Given the description of an element on the screen output the (x, y) to click on. 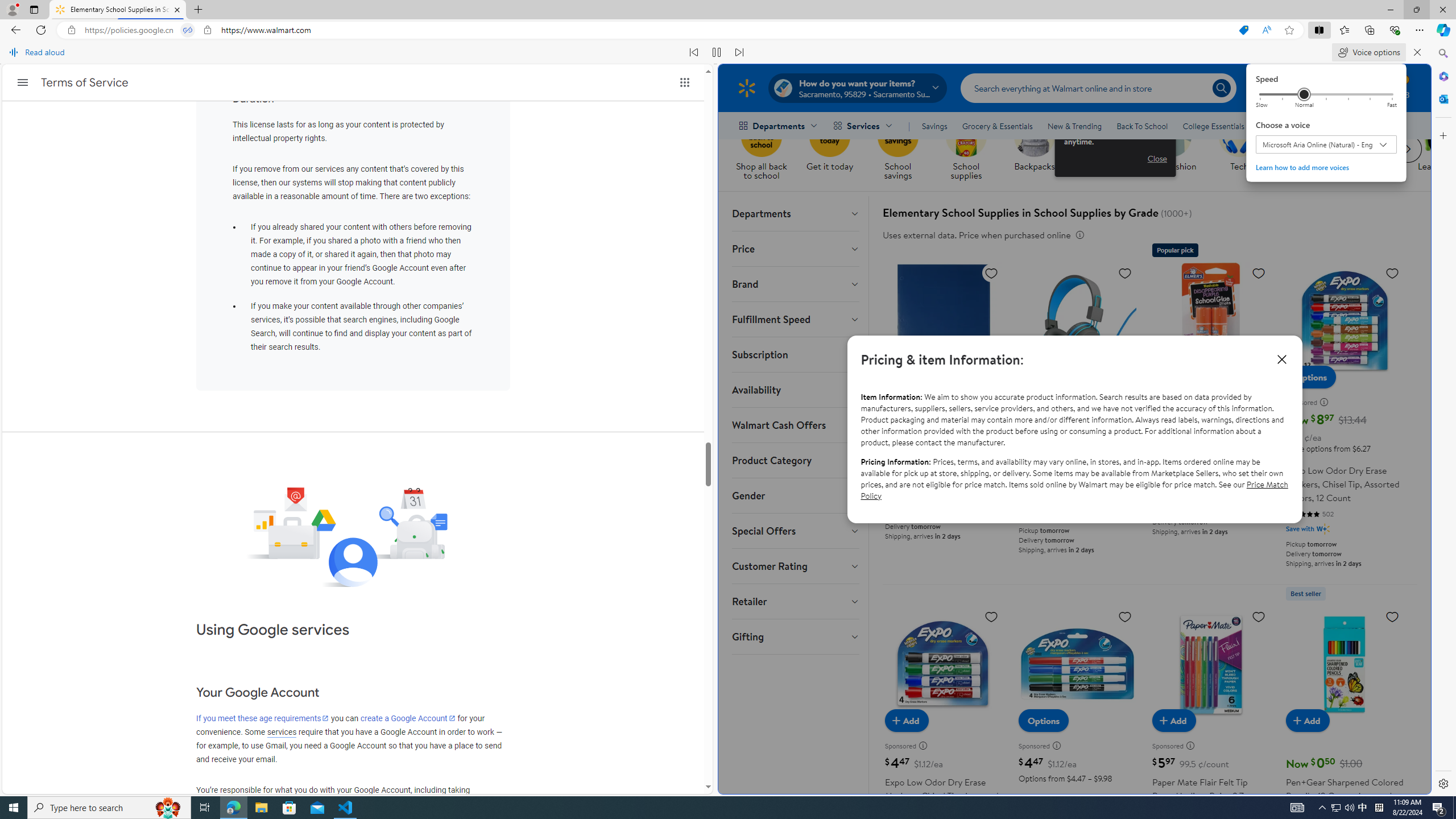
Action Center, 2 new notifications (1439, 807)
Read next paragraph (739, 52)
Show desktop (1454, 807)
Type here to search (108, 807)
Tray Input Indicator - Chinese (Simplified, China) (1378, 807)
